Given the description of an element on the screen output the (x, y) to click on. 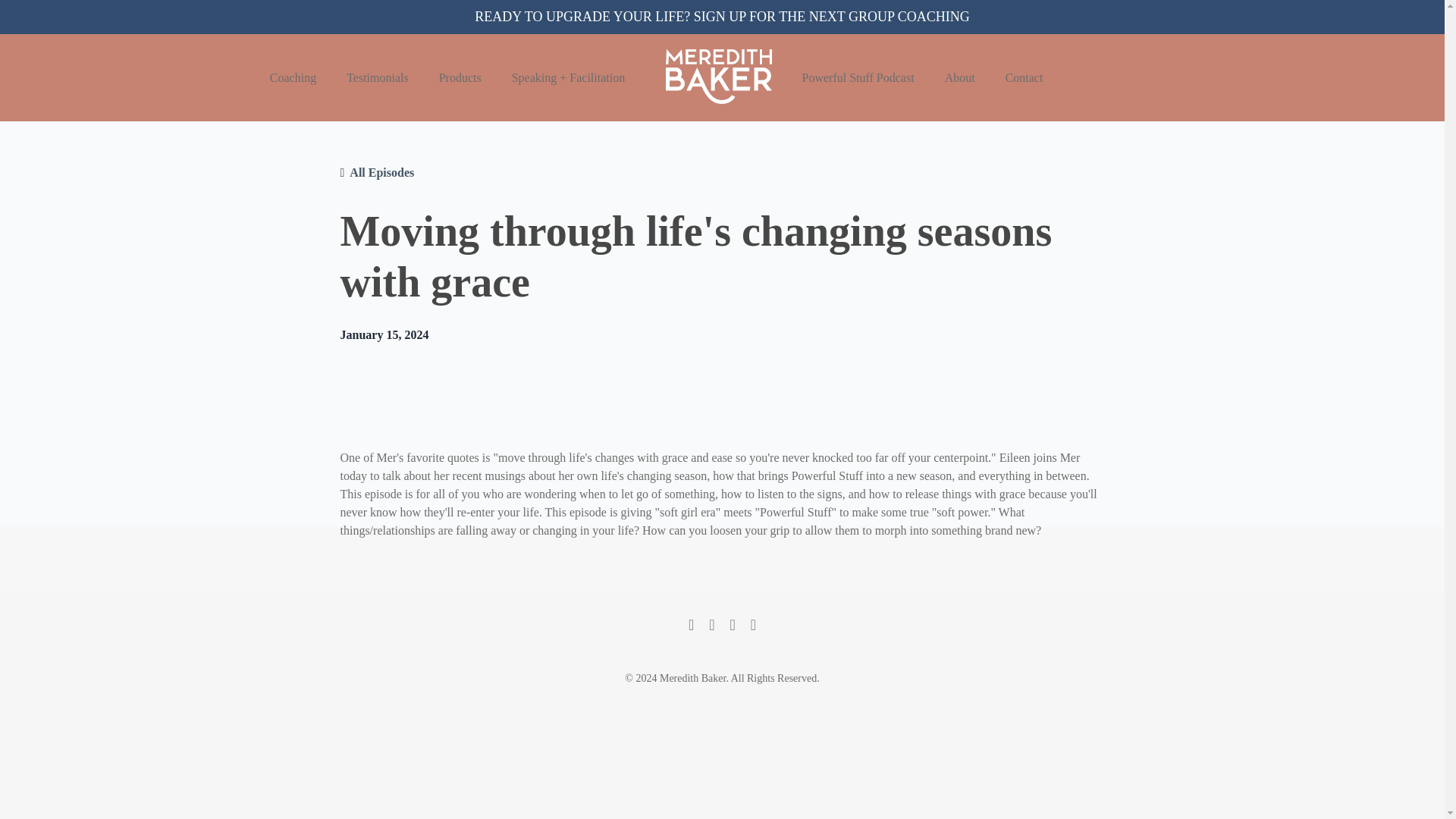
Products (460, 77)
Coaching (292, 77)
Testimonials (377, 77)
About (959, 77)
Contact (1024, 77)
All Episodes (381, 172)
Powerful Stuff Podcast (858, 77)
